Given the description of an element on the screen output the (x, y) to click on. 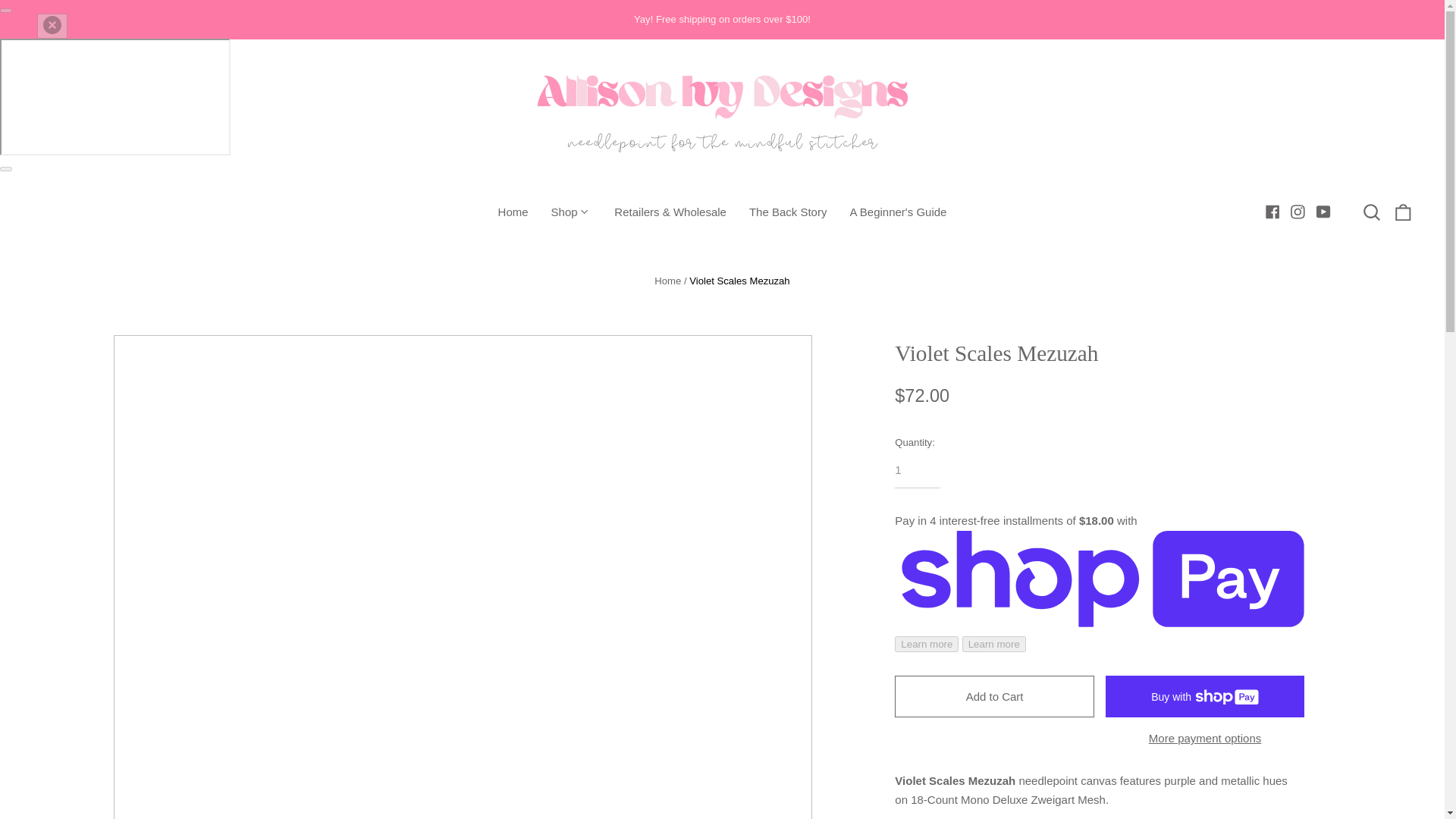
Home (667, 280)
